Given the description of an element on the screen output the (x, y) to click on. 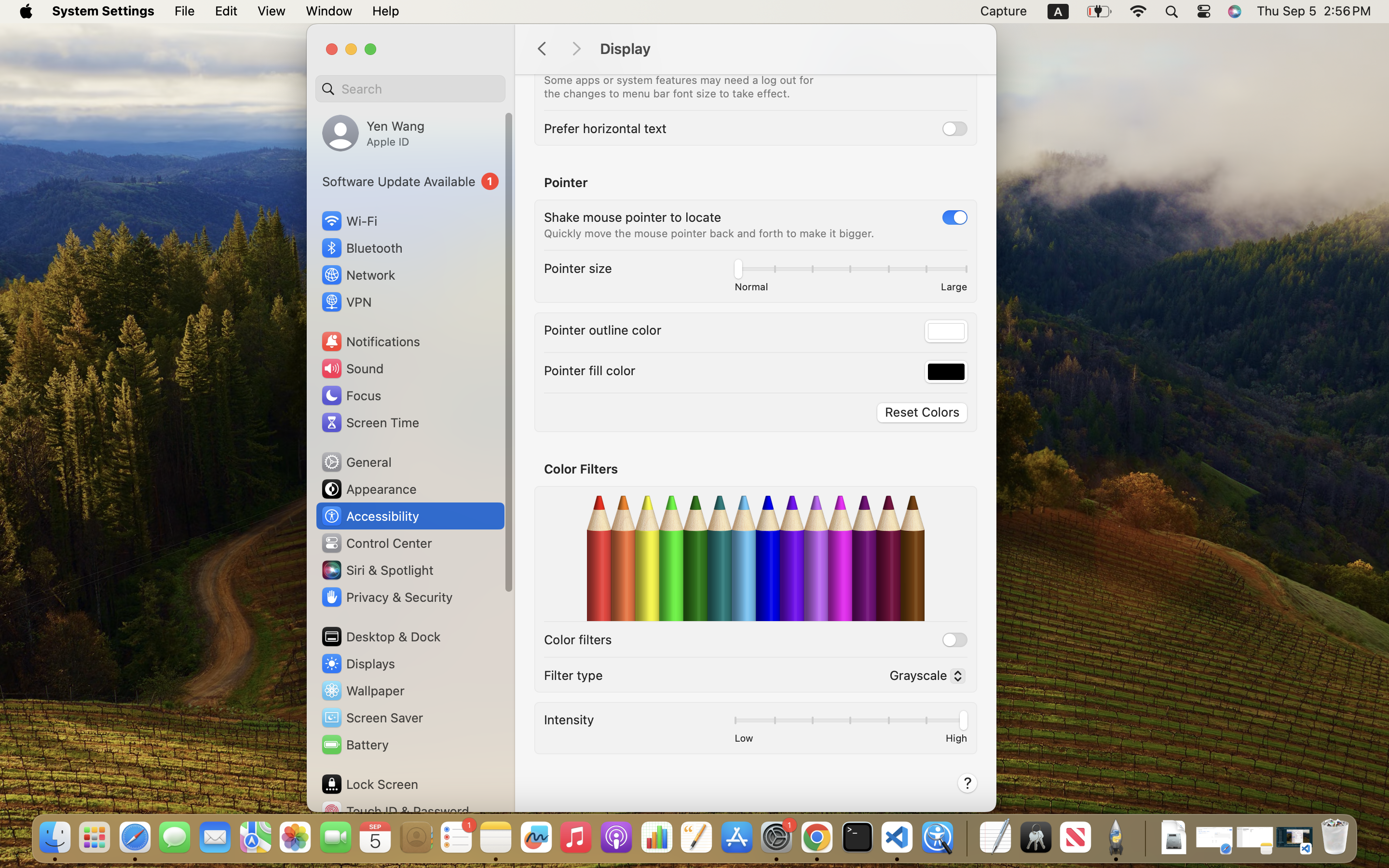
Grayscale Element type: AXPopUpButton (923, 677)
Pointer size Element type: AXStaticText (578, 267)
Intensity Element type: AXStaticText (569, 719)
General Element type: AXStaticText (355, 461)
